Given the description of an element on the screen output the (x, y) to click on. 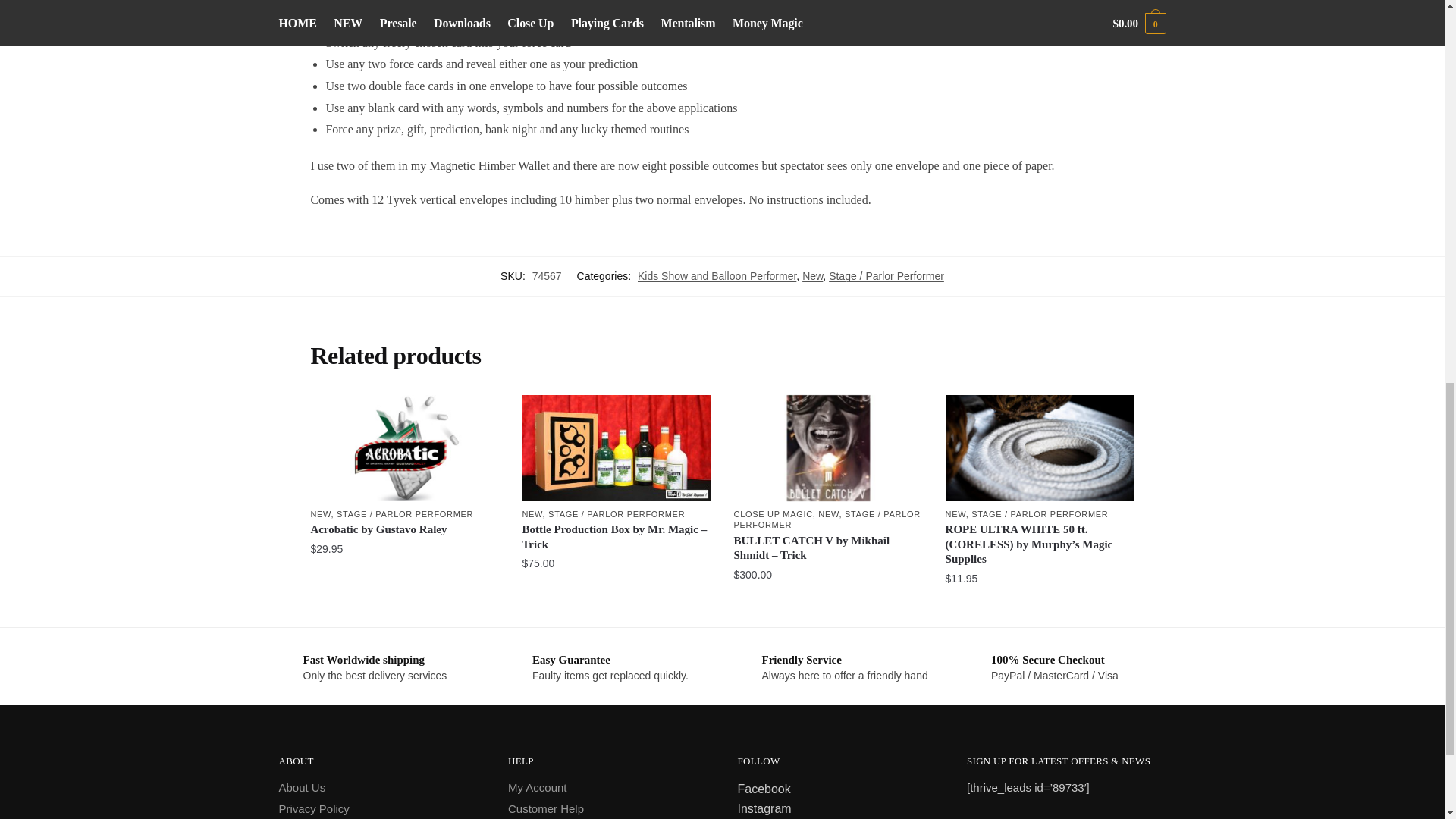
Acrobatic by Gustavo Raley (404, 447)
Kids Show and Balloon Performer (716, 275)
